Given the description of an element on the screen output the (x, y) to click on. 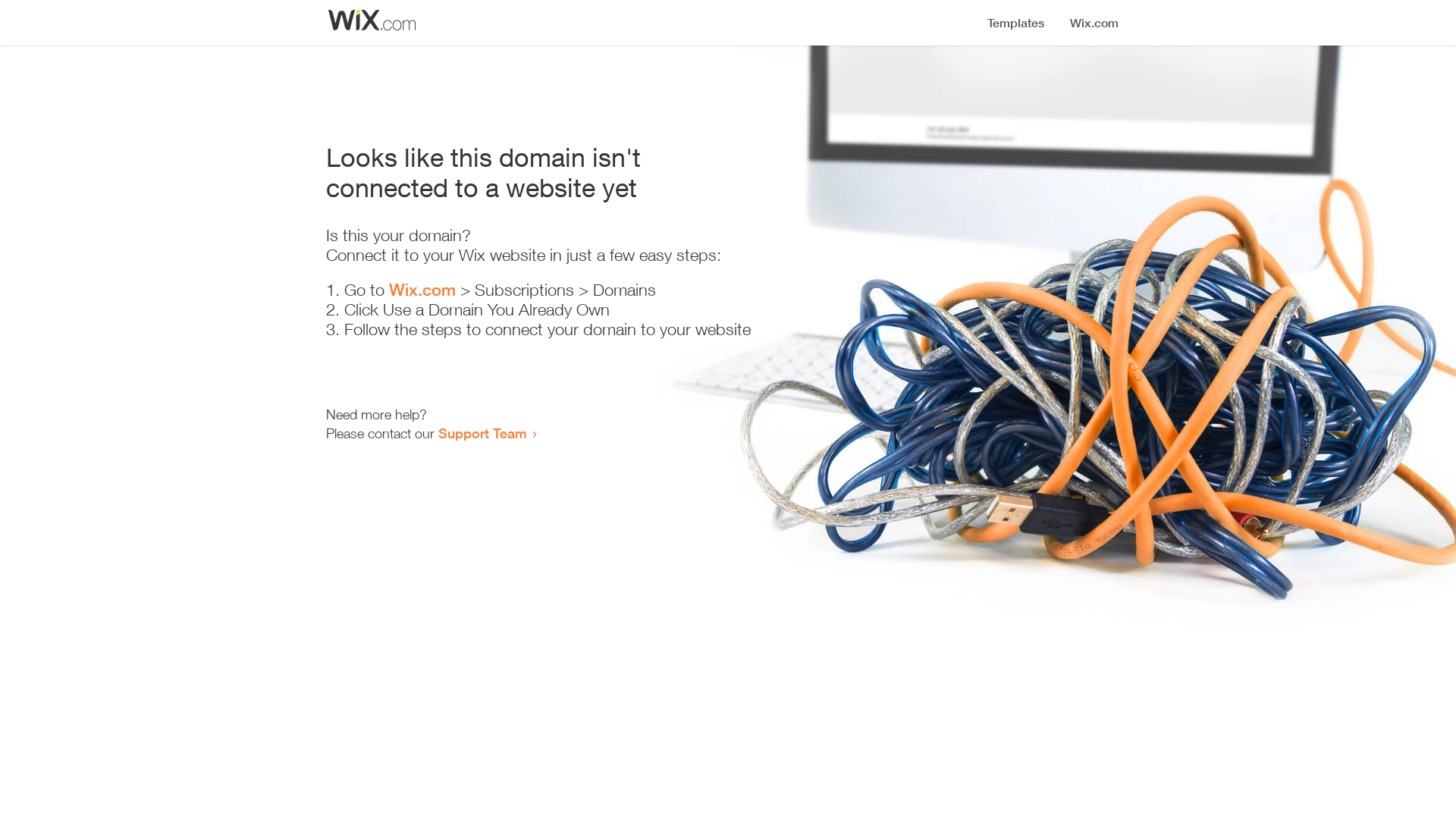
Support Team Element type: text (482, 432)
Wix.com Element type: text (422, 289)
